Given the description of an element on the screen output the (x, y) to click on. 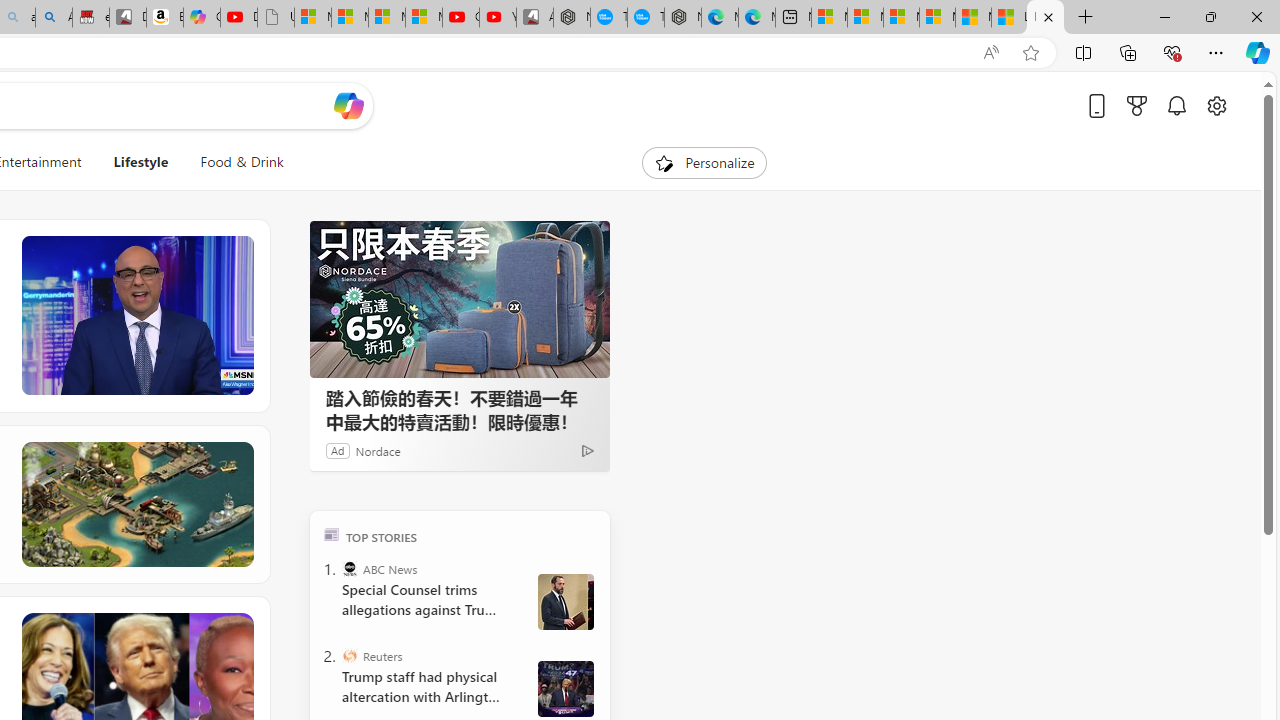
Untitled (276, 17)
Food & Drink (241, 162)
